Given the description of an element on the screen output the (x, y) to click on. 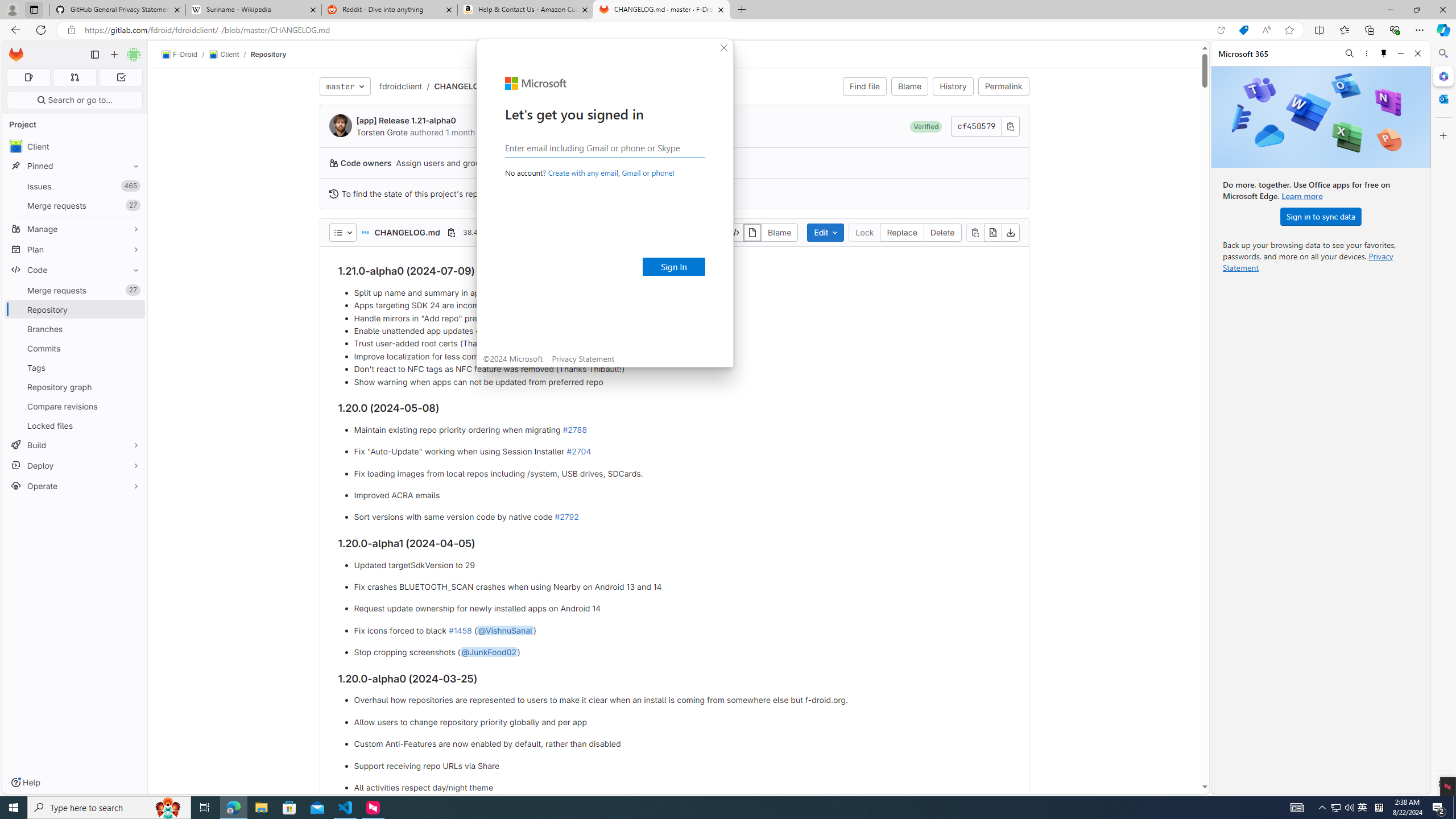
avatar Client (74, 145)
Minimize (1401, 53)
Tray Input Indicator - Chinese (Simplified, China) (1378, 807)
Unpin Merge requests (132, 290)
master (344, 85)
Manage (74, 228)
Repository graph (74, 386)
Find file (864, 85)
Build (74, 444)
Enter email including Gmail or phone or Skype (604, 147)
Merge requests 0 (74, 76)
View site information (70, 29)
Help (25, 782)
Repository graph (74, 386)
